Given the description of an element on the screen output the (x, y) to click on. 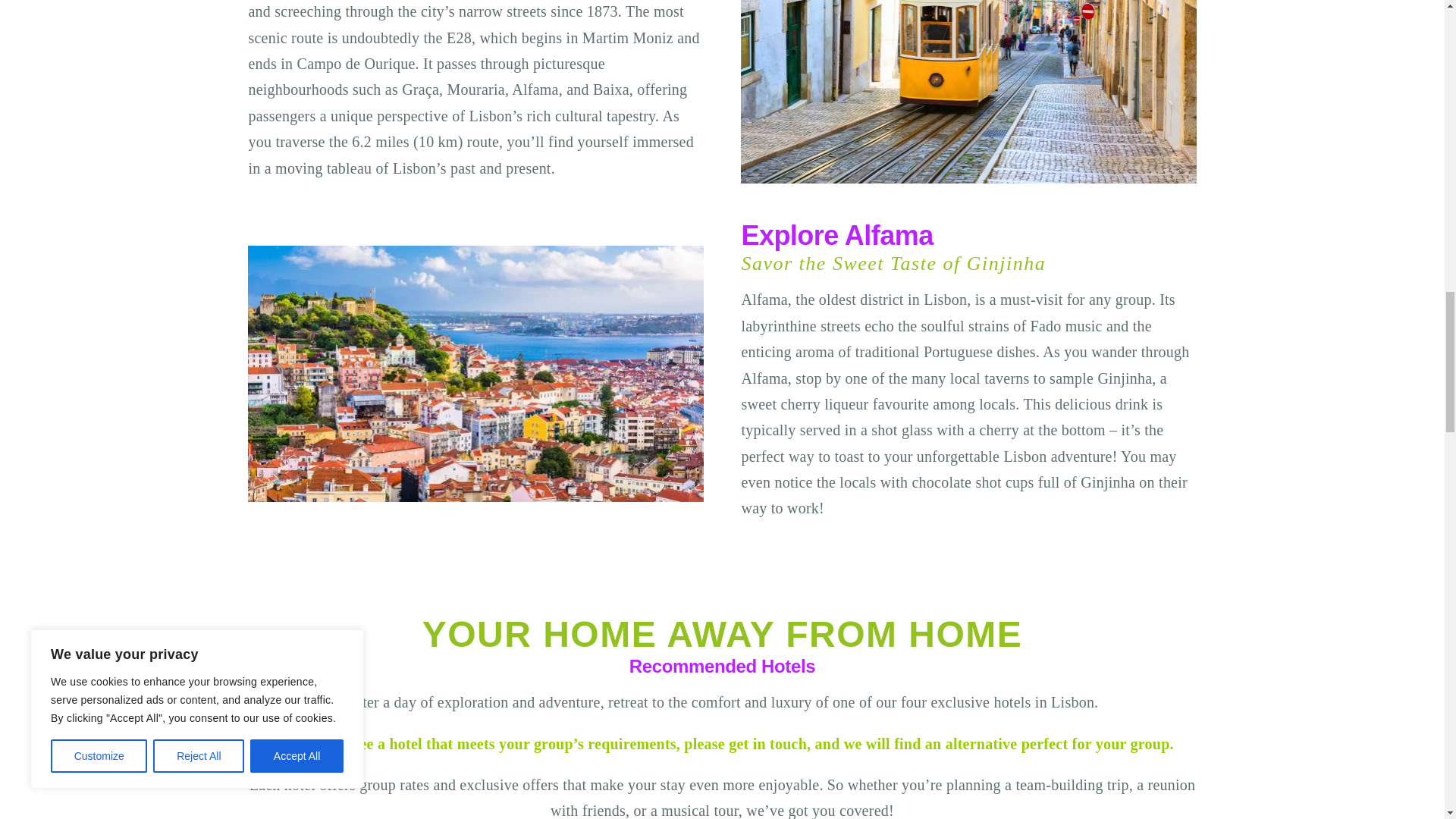
A view of the incline and Bica tram, Lisbon, Portugal (968, 91)
